Given the description of an element on the screen output the (x, y) to click on. 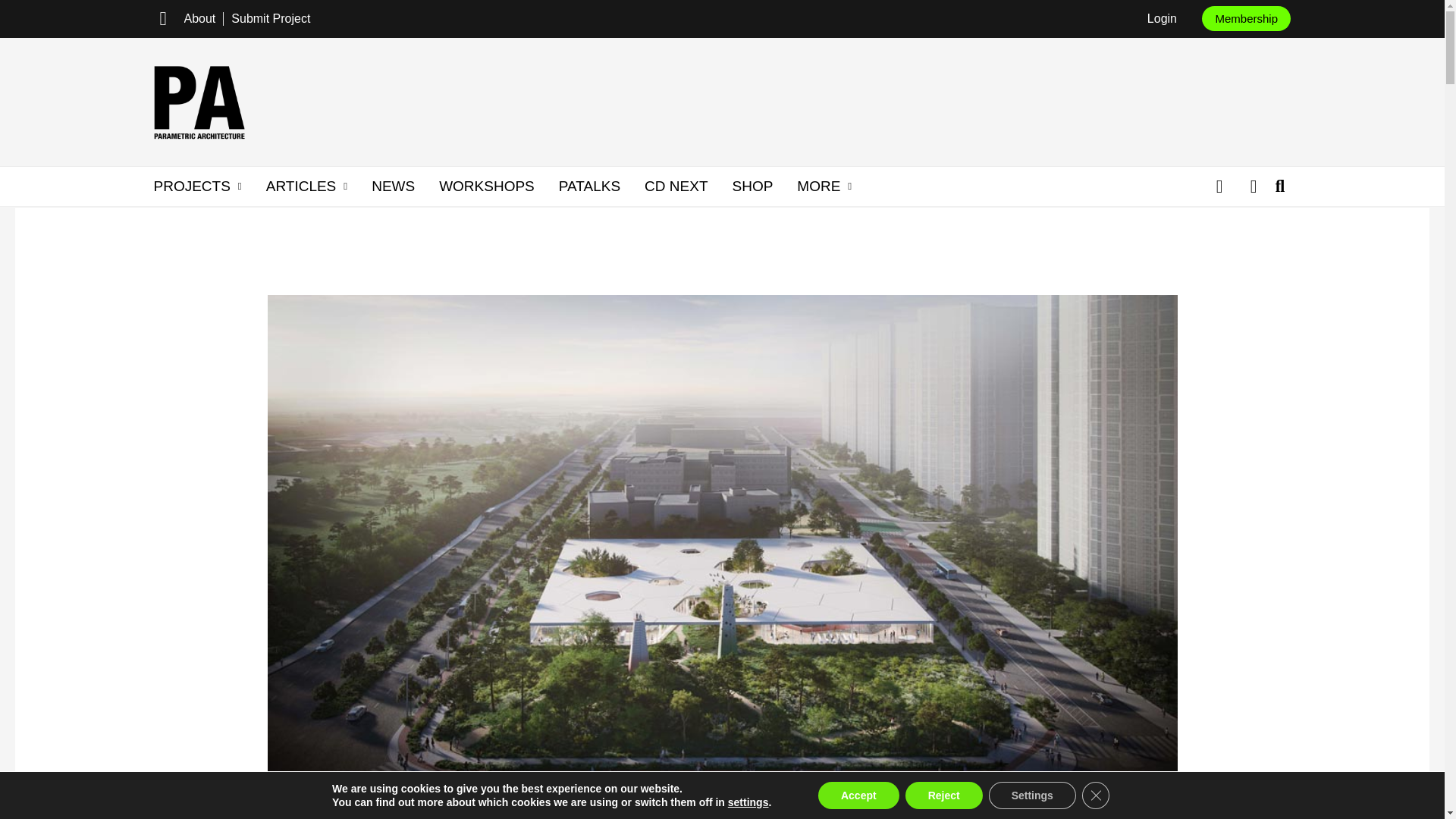
ARTICLES (306, 185)
About (199, 18)
Advertisement (956, 98)
Membership (1246, 18)
PROJECTS (196, 185)
Submit Project (270, 18)
Login (1161, 18)
